Given the description of an element on the screen output the (x, y) to click on. 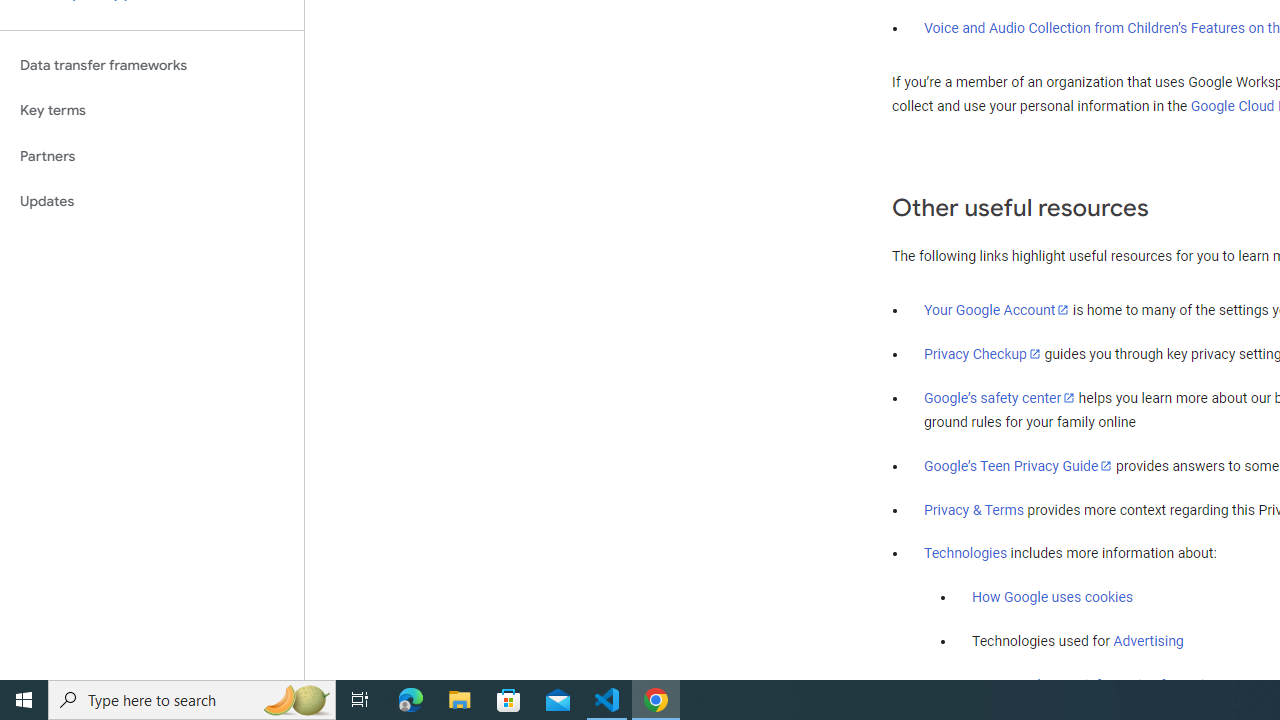
Data transfer frameworks (152, 65)
How Google uses cookies (1052, 597)
Your Google Account (997, 309)
Partners (152, 156)
Privacy Checkup (982, 353)
Key terms (152, 110)
Updates (152, 201)
Advertising (1148, 641)
